Given the description of an element on the screen output the (x, y) to click on. 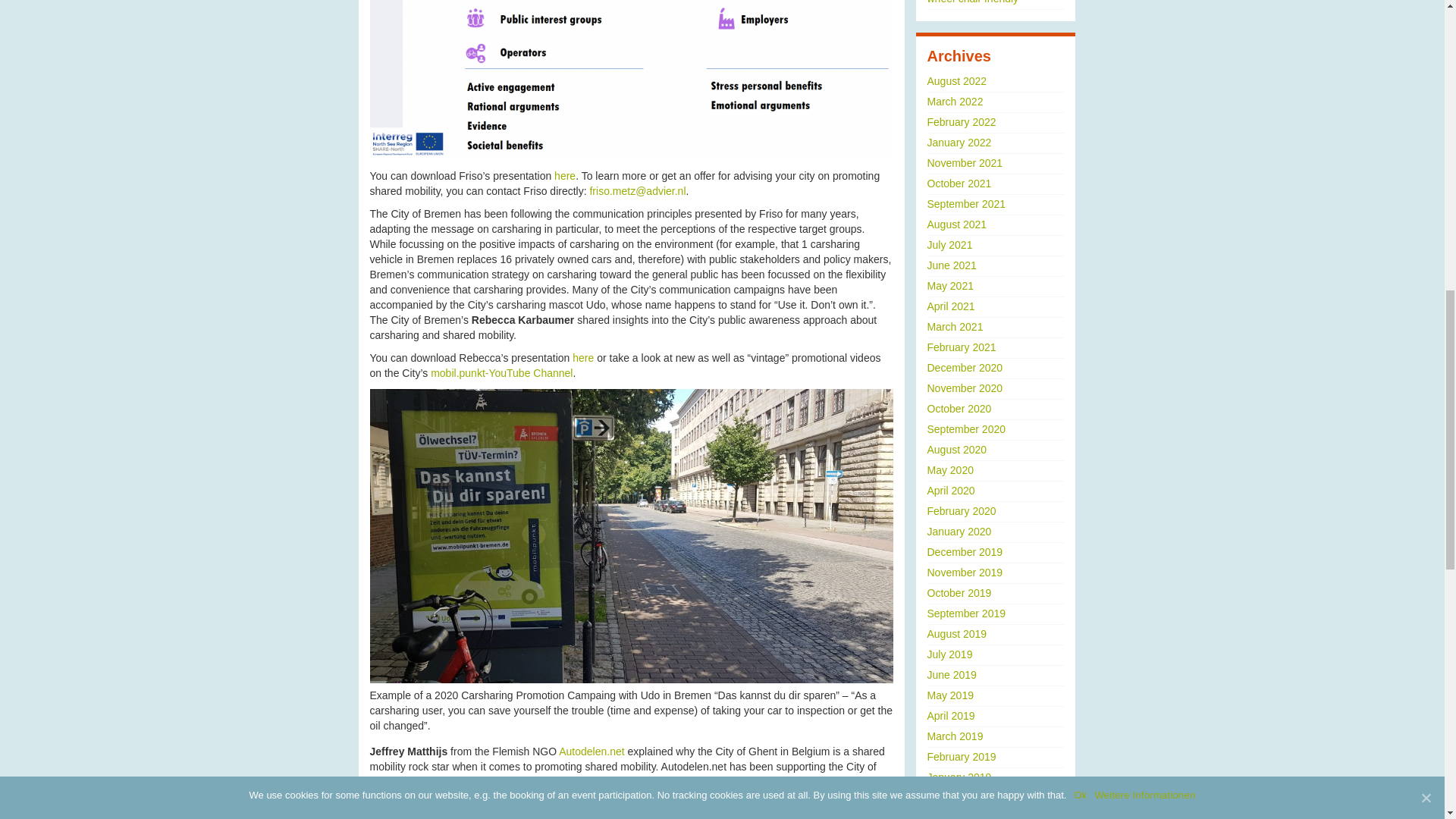
Autodelen.net (591, 751)
Ghent is a Carsharing City (806, 781)
here (564, 175)
mobil.punkt-YouTube Channel (501, 372)
here (584, 357)
